Given the description of an element on the screen output the (x, y) to click on. 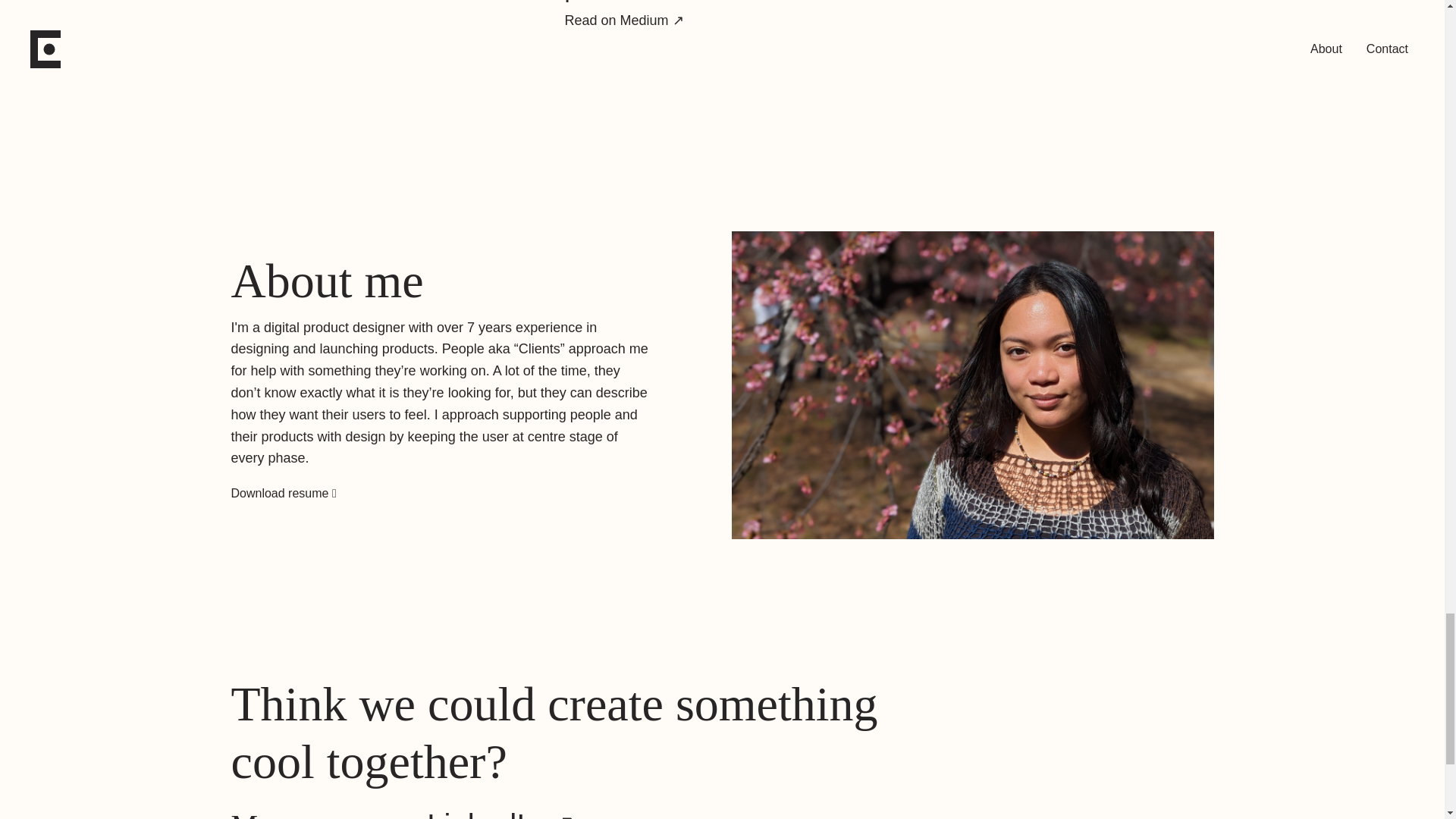
Download resume (280, 492)
